Given the description of an element on the screen output the (x, y) to click on. 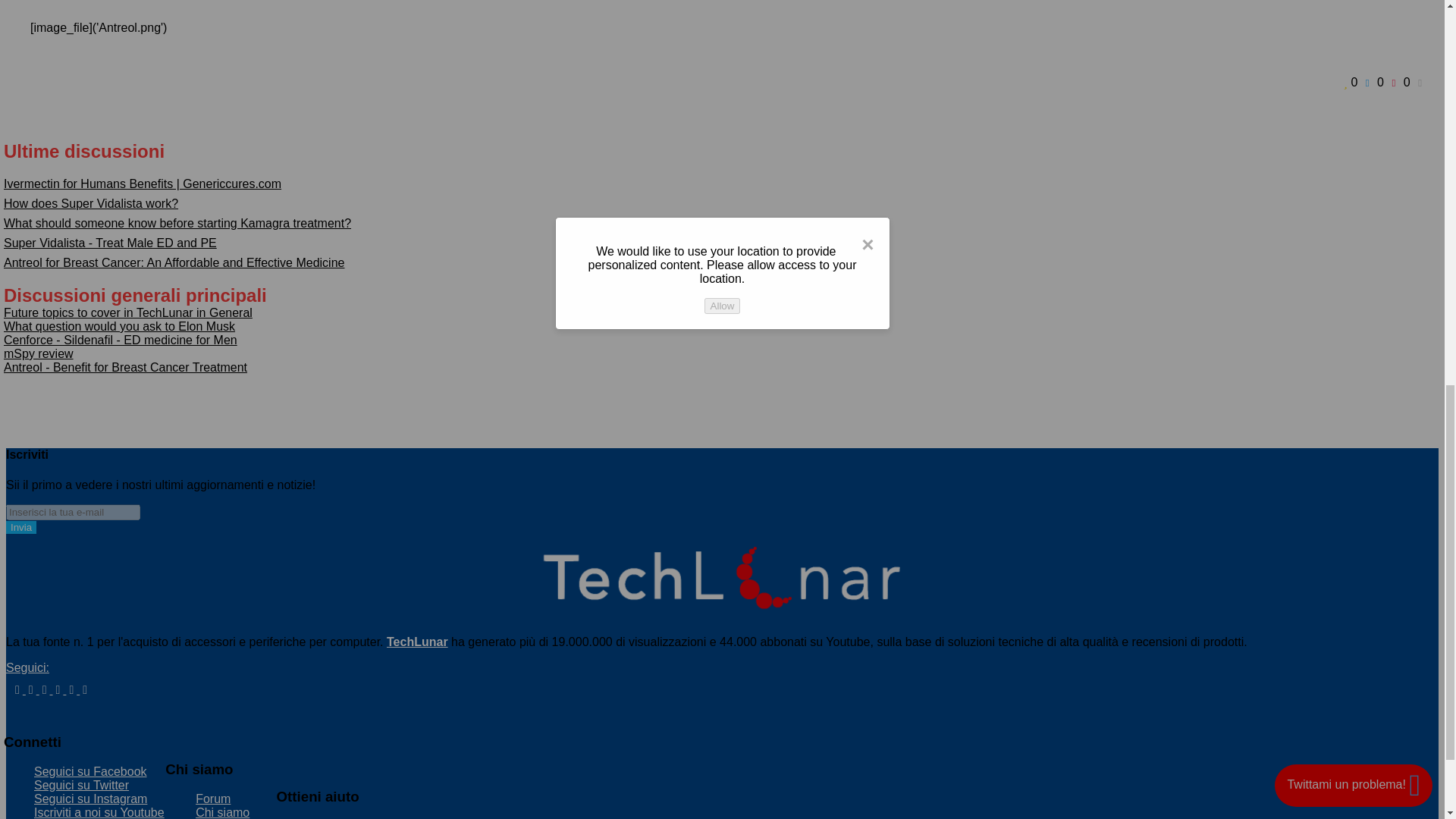
favourite (1352, 82)
